Given the description of an element on the screen output the (x, y) to click on. 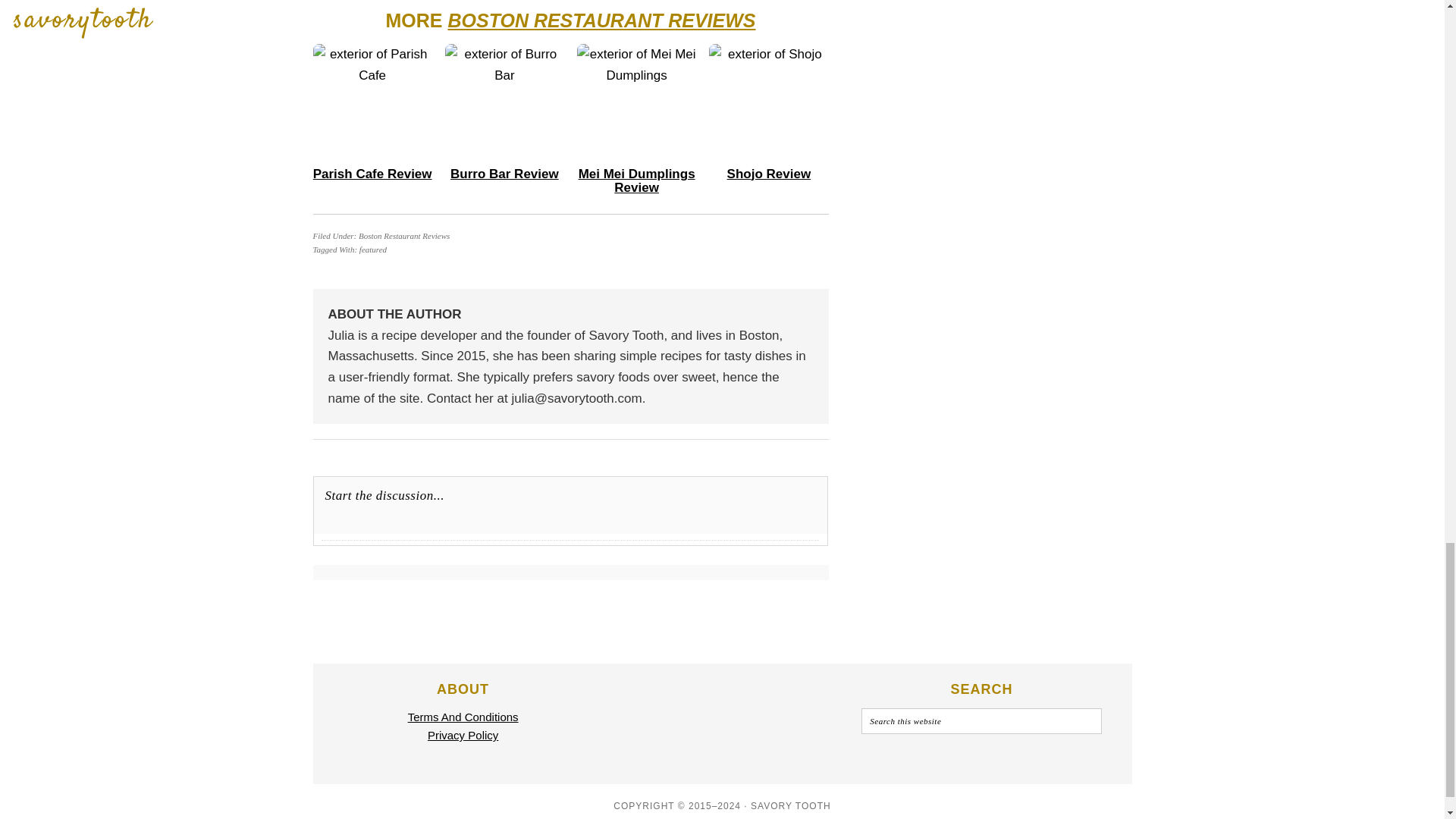
Burro Bar Review (504, 173)
Shojo Review (768, 173)
Parish Cafe Review (372, 173)
BOSTON RESTAURANT REVIEWS (600, 20)
Burro Bar Review (504, 173)
Parish Cafe Review (372, 173)
Mei Mei Dumplings Review (636, 181)
